Given the description of an element on the screen output the (x, y) to click on. 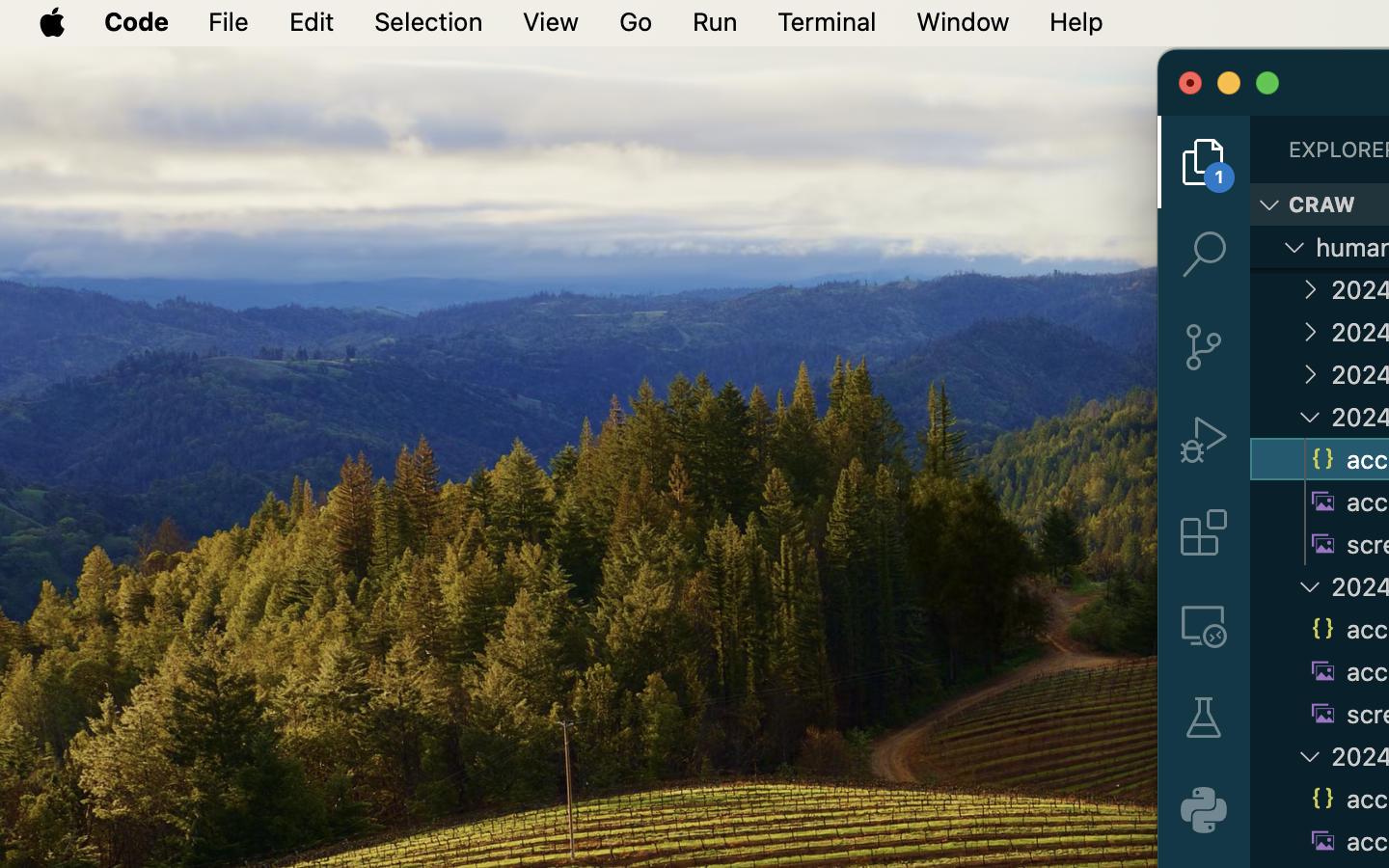
0  Element type: AXRadioButton (1203, 532)
1  Element type: AXRadioButton (1203, 161)
 Element type: AXGroup (1203, 717)
0  Element type: AXRadioButton (1203, 346)
 Element type: AXStaticText (1309, 331)
